Given the description of an element on the screen output the (x, y) to click on. 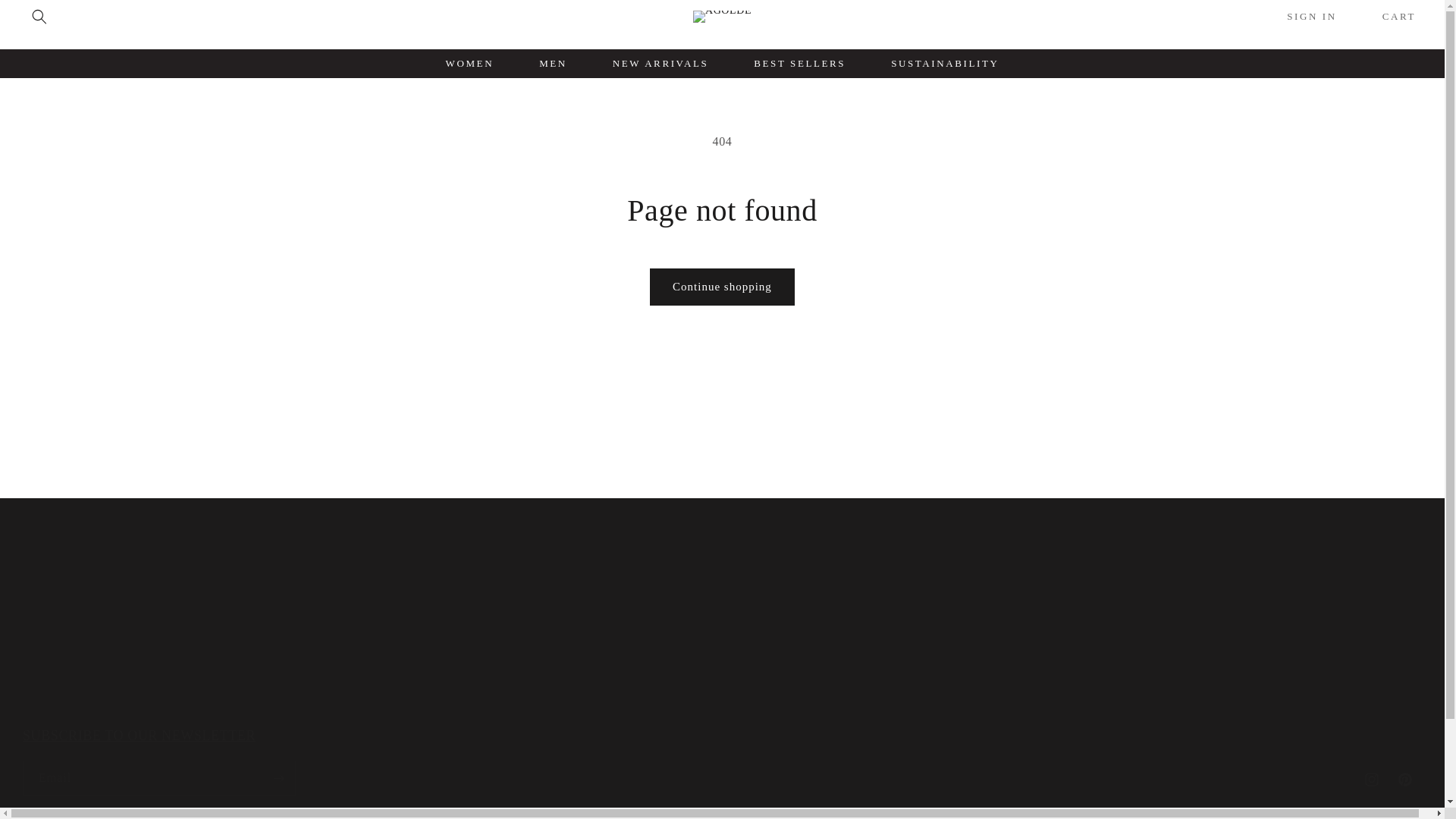
Skip to content (722, 761)
